Given the description of an element on the screen output the (x, y) to click on. 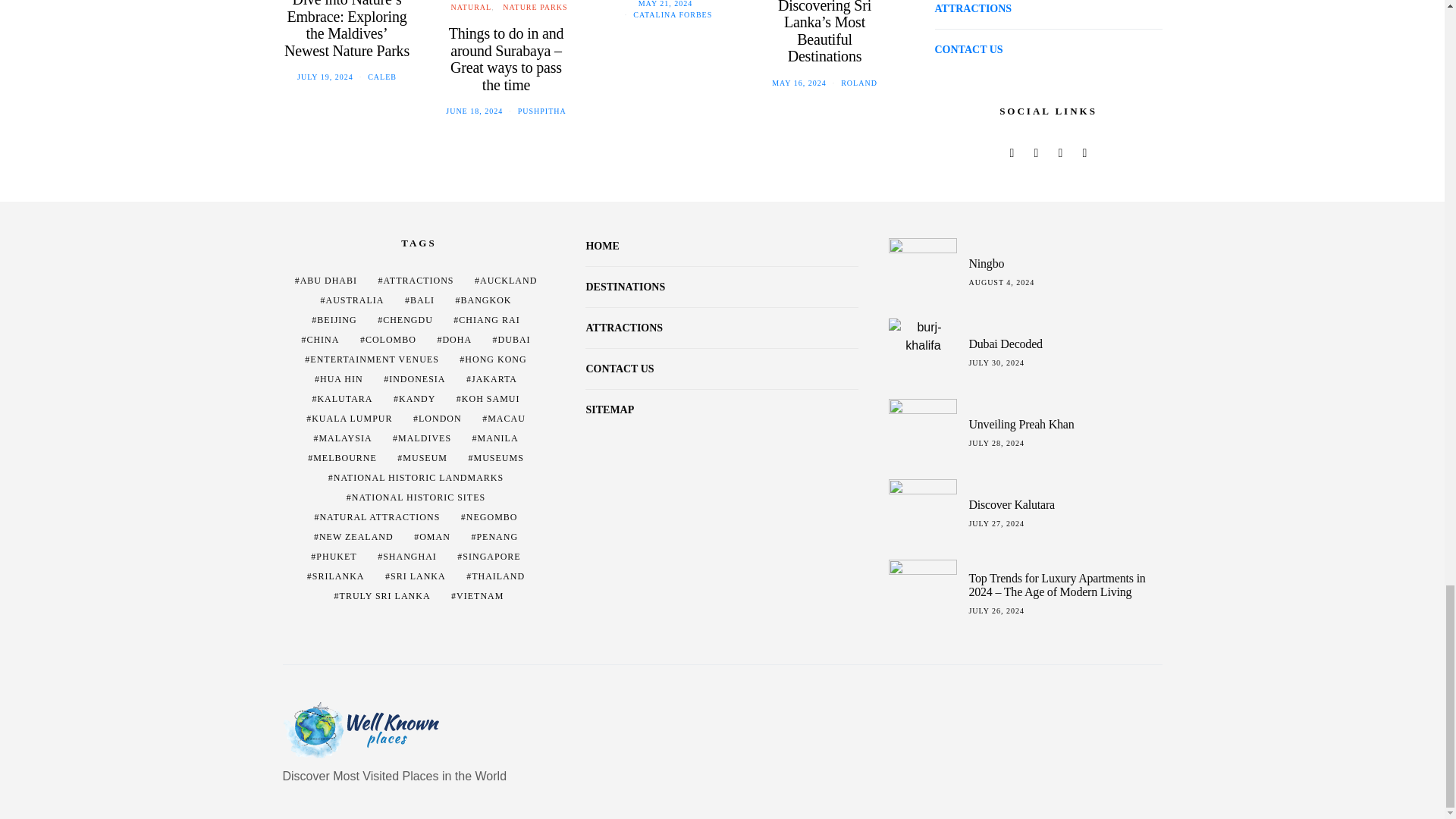
View all posts by Pushpitha (542, 111)
View all posts by caleb (382, 76)
View all posts by Catalina Forbes (672, 14)
View all posts by roland (859, 82)
